Given the description of an element on the screen output the (x, y) to click on. 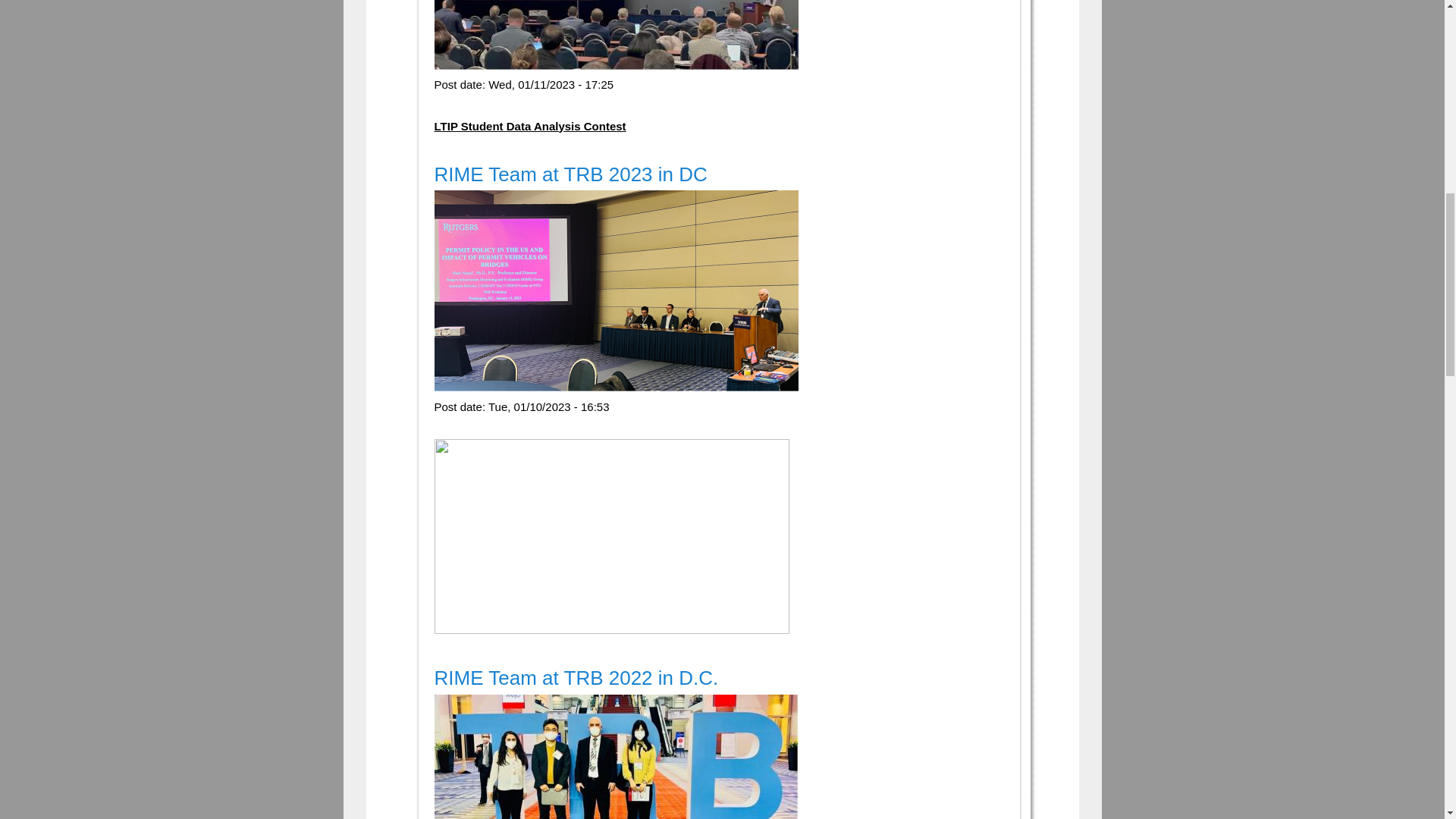
RIME Team at TRB 2022 in D.C. (575, 677)
RIME Team at TRB 2023 in DC (569, 173)
